Given the description of an element on the screen output the (x, y) to click on. 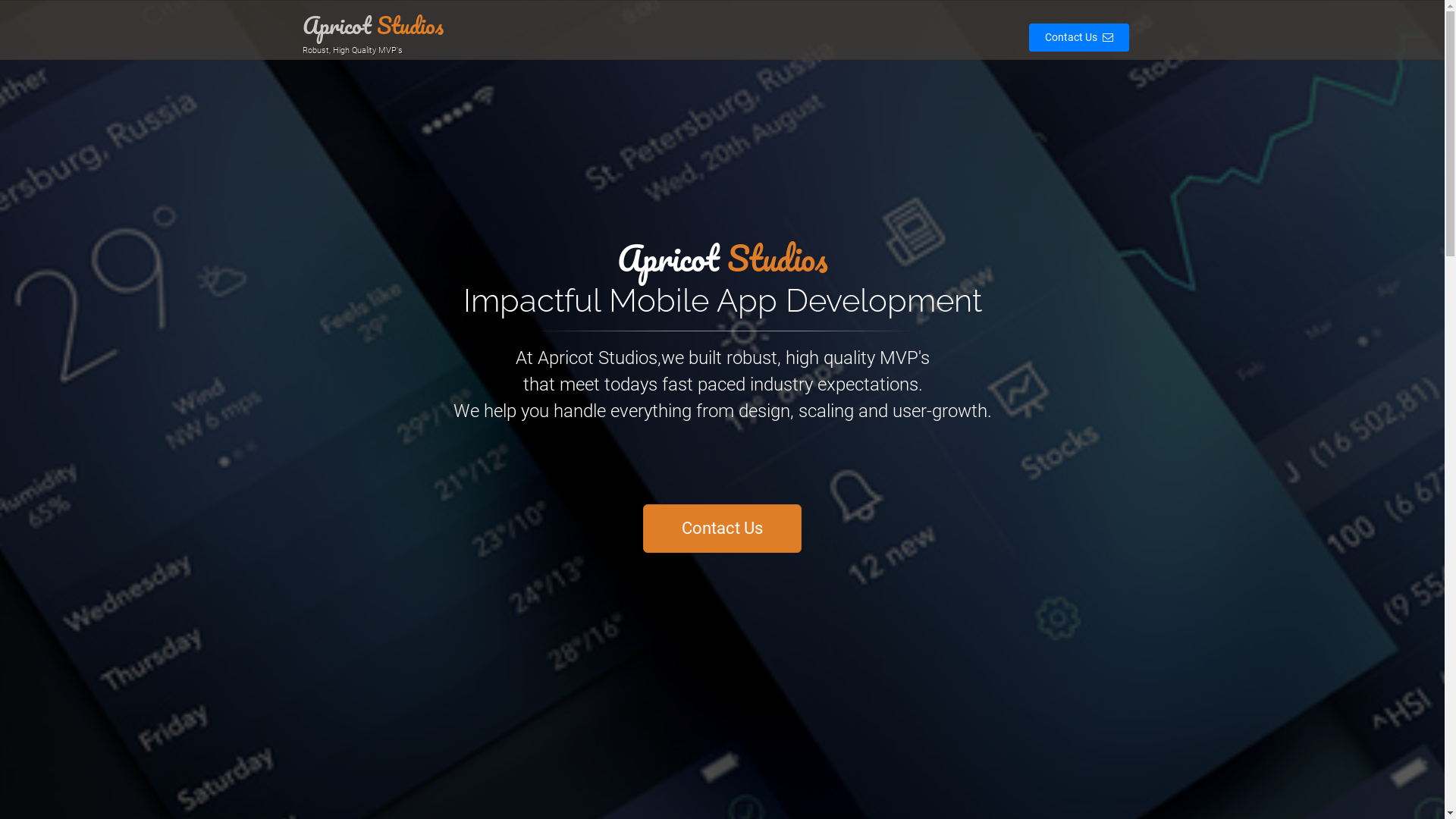
Contact Us Element type: text (722, 527)
Contact Us Element type: text (1078, 37)
Contact Us Element type: text (1071, 37)
Contact Us Element type: text (722, 528)
